Given the description of an element on the screen output the (x, y) to click on. 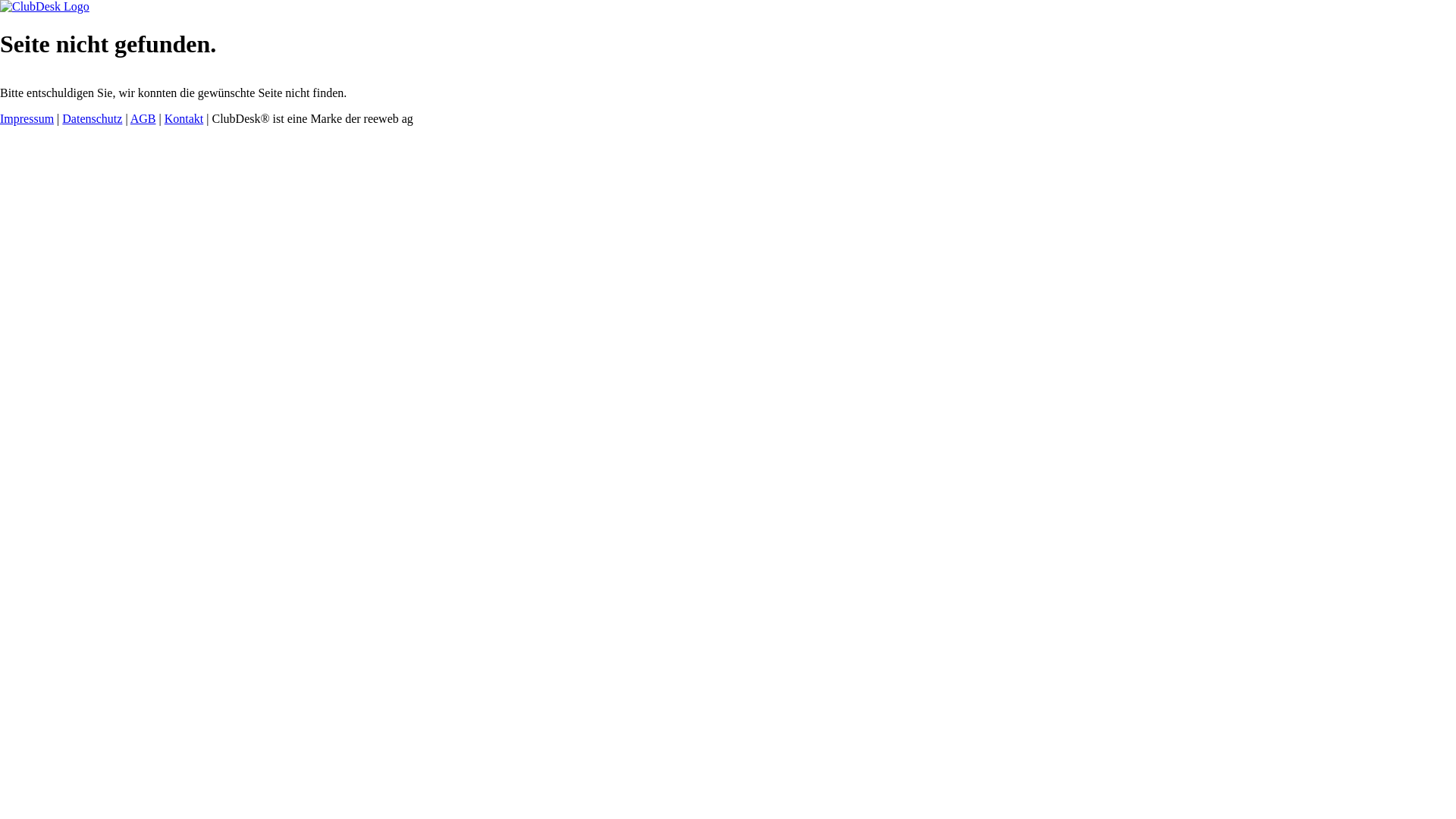
Impressum Element type: text (26, 118)
Kontakt Element type: text (183, 118)
Datenschutz Element type: text (92, 118)
AGB Element type: text (143, 118)
